Given the description of an element on the screen output the (x, y) to click on. 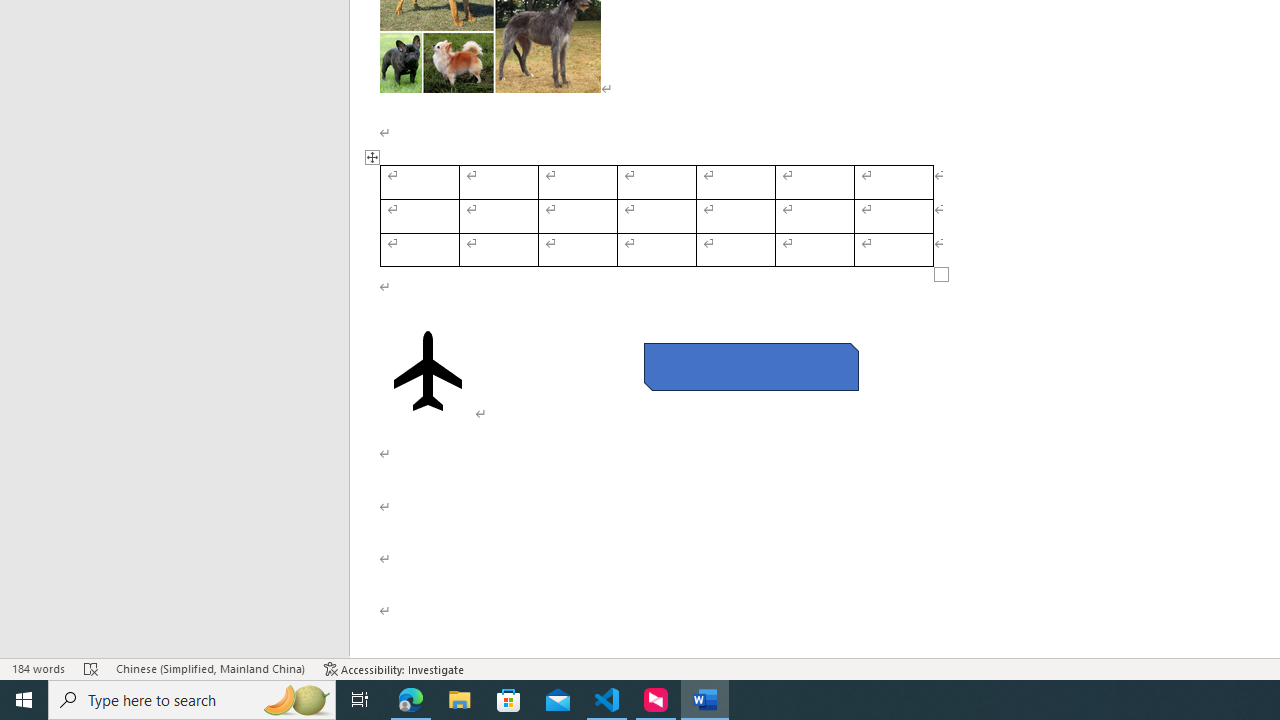
Word Count 184 words (37, 668)
Airplane with solid fill (428, 371)
Rectangle: Diagonal Corners Snipped 2 (750, 366)
